Given the description of an element on the screen output the (x, y) to click on. 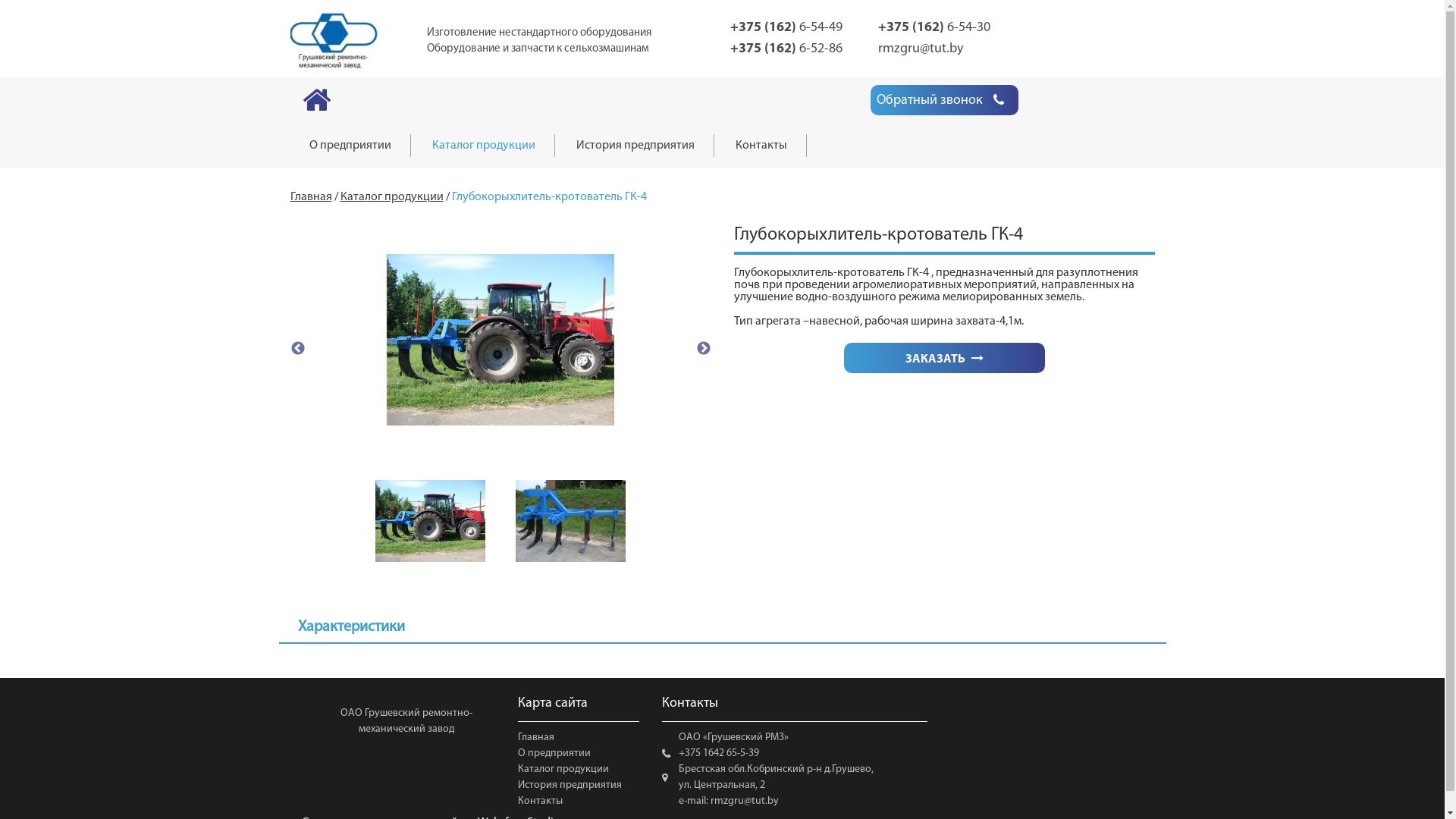
+375 (162) 6-52-86 Element type: text (785, 48)
+375 (162) 6-54-30 Element type: text (934, 27)
Previous Element type: text (296, 348)
+375 (162) 6-54-49 Element type: text (785, 27)
rmzgru@tut.by Element type: text (920, 48)
Next Element type: text (703, 348)
